Given the description of an element on the screen output the (x, y) to click on. 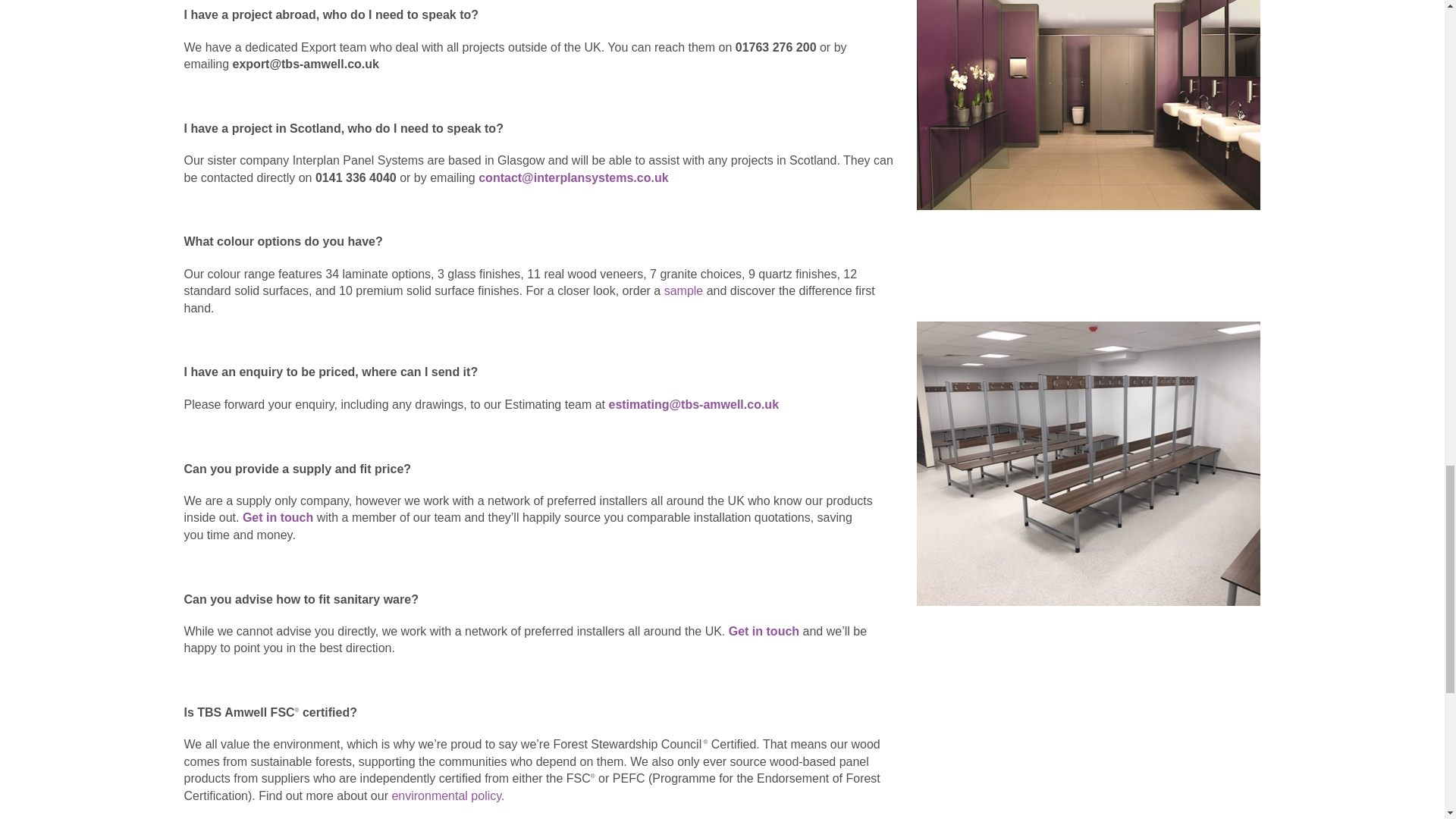
Get in Touch (278, 517)
Environmental (447, 795)
Samples (684, 290)
Get in Touch (764, 631)
